Given the description of an element on the screen output the (x, y) to click on. 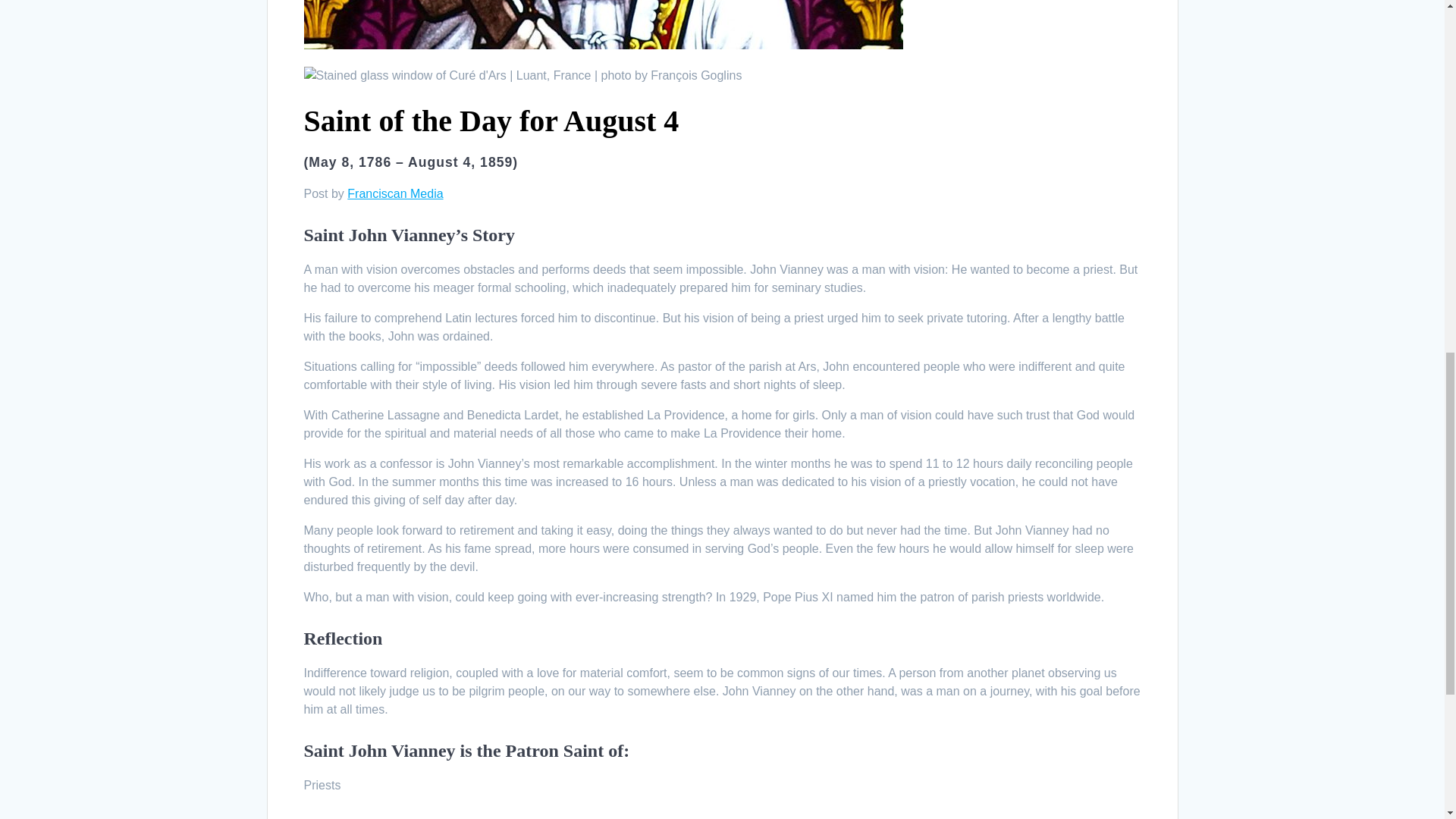
Franciscan Media (394, 193)
